Given the description of an element on the screen output the (x, y) to click on. 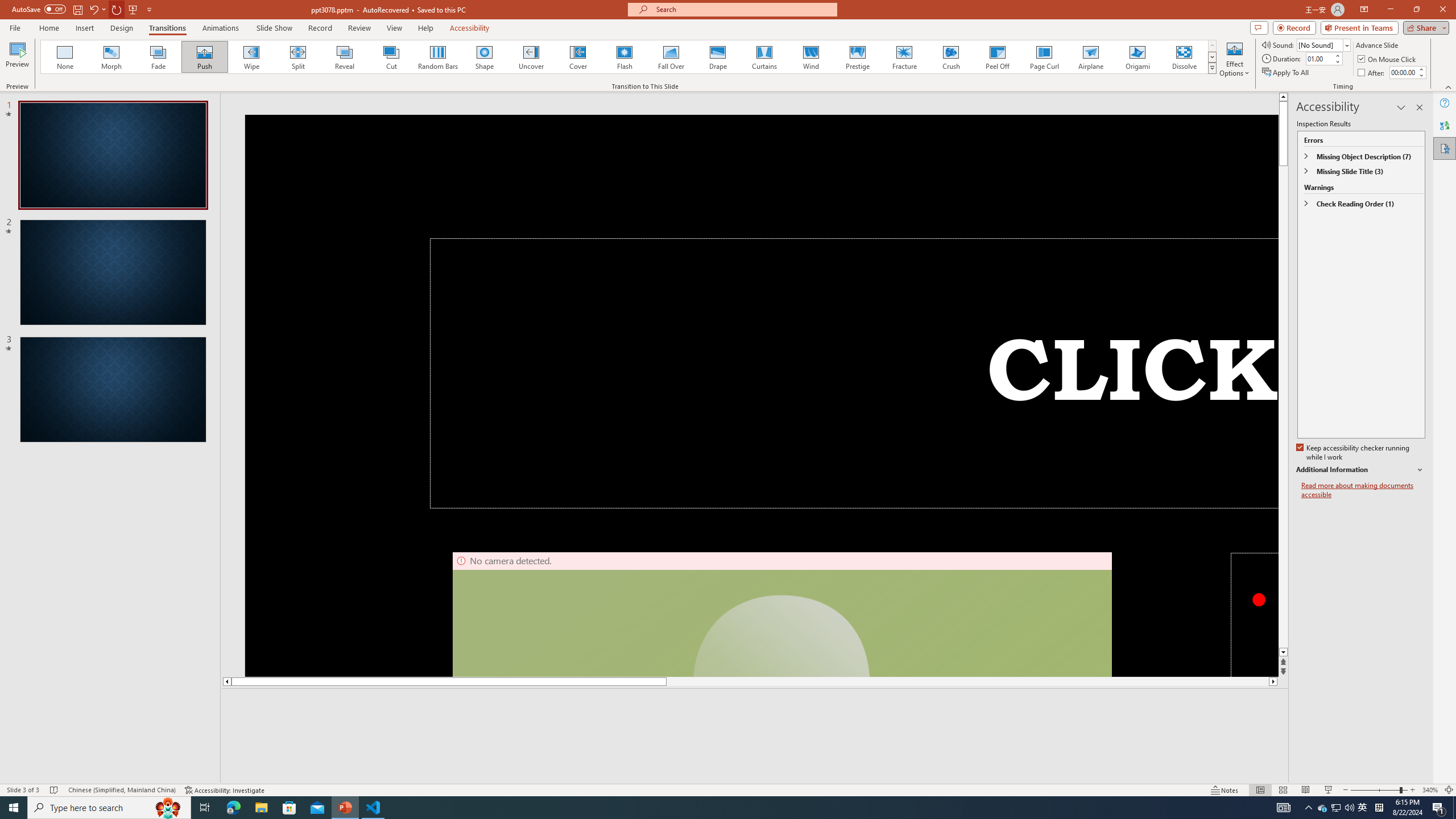
Fracture (903, 56)
Cover (577, 56)
Drape (717, 56)
Apply To All (1286, 72)
Prestige (857, 56)
